Given the description of an element on the screen output the (x, y) to click on. 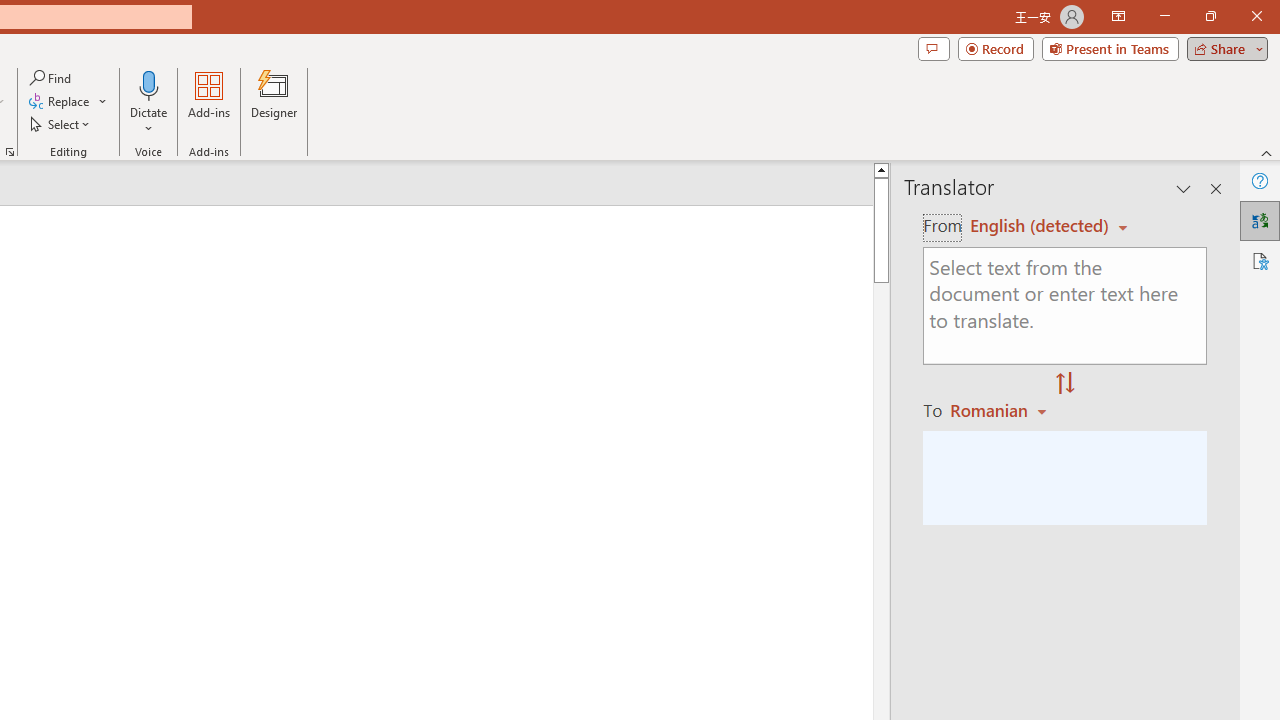
Romanian (1001, 409)
Swap "from" and "to" languages. (1065, 383)
